Given the description of an element on the screen output the (x, y) to click on. 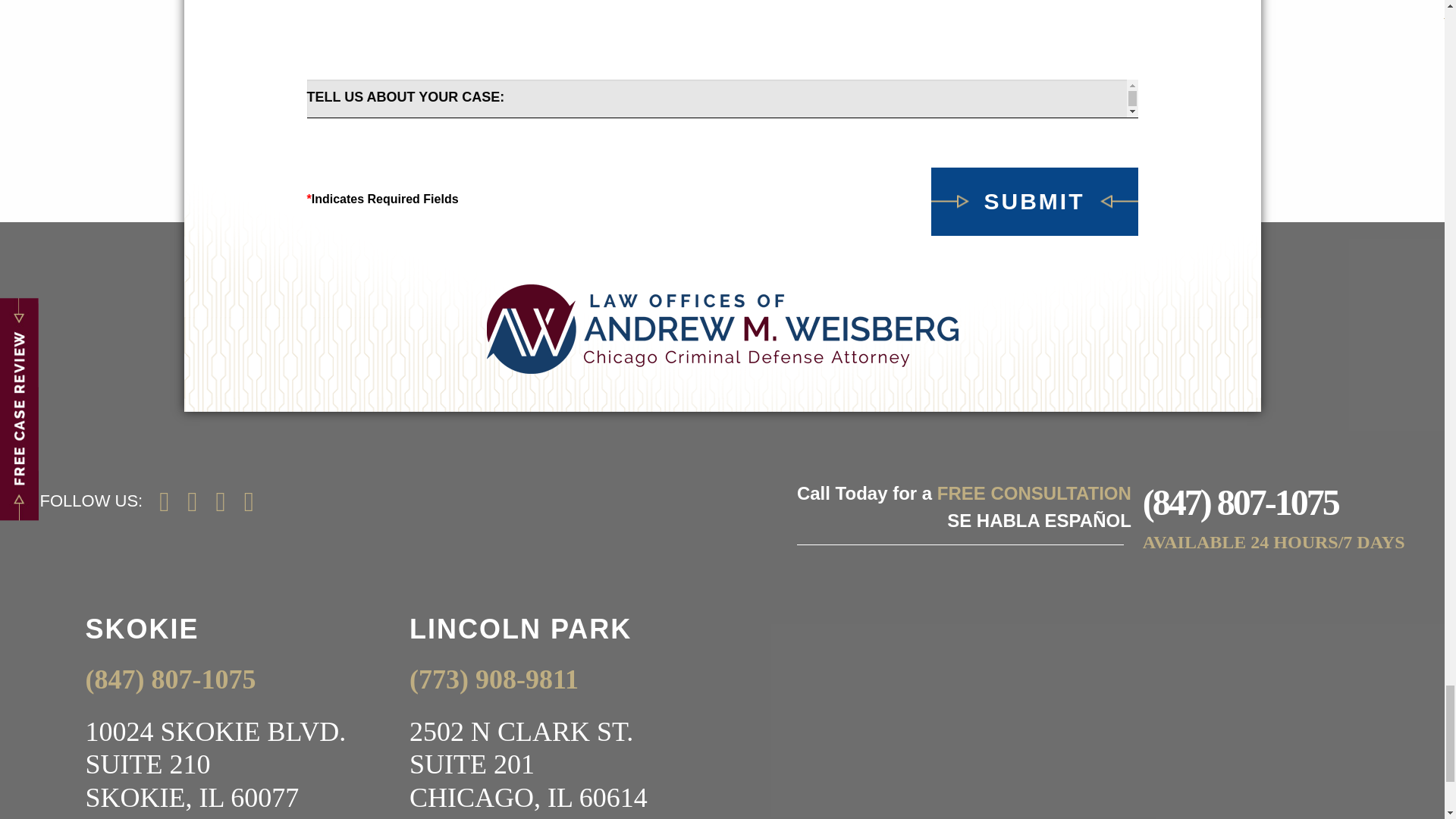
Law Offices of Andrew M. Weisberg (722, 327)
